Given the description of an element on the screen output the (x, y) to click on. 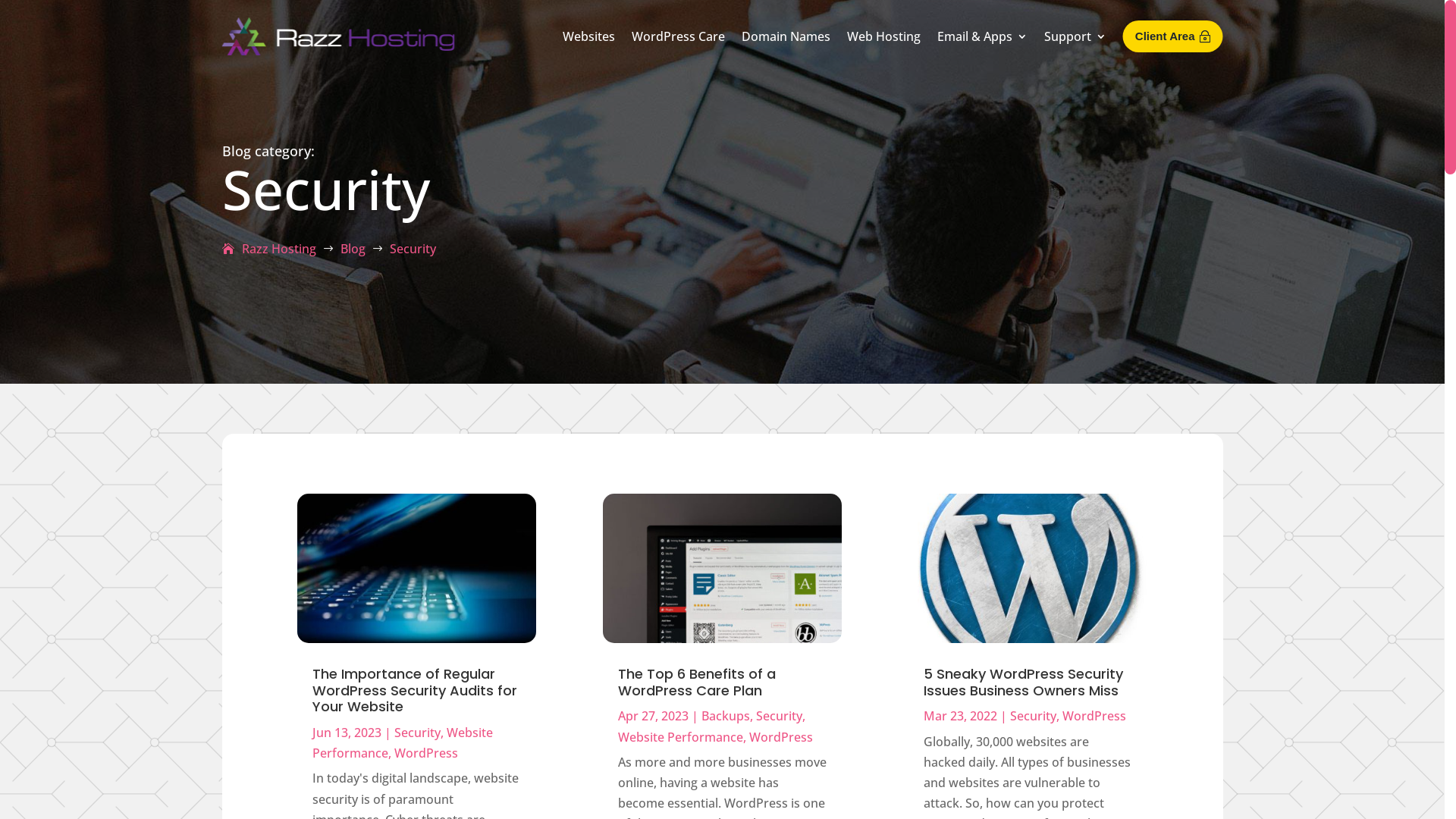
Websites Element type: text (588, 36)
The Top 6 Benefits of a WordPress Care Plan Element type: text (696, 681)
Web Hosting Element type: text (883, 36)
Email & Apps Element type: text (982, 36)
WordPress Element type: text (780, 736)
Domain Names Element type: text (785, 36)
5 Sneaky WordPress Security Issues Business Owners Miss Element type: text (1023, 681)
Blog Element type: text (351, 248)
WordPress Element type: text (1094, 715)
Website Performance Element type: text (680, 736)
Razz Hosting Element type: text (268, 248)
Website Performance Element type: text (402, 742)
Security Element type: text (779, 715)
Support Element type: text (1075, 36)
WordPress Care Element type: text (677, 36)
Client Area Element type: text (1173, 36)
WordPress Element type: text (426, 752)
Backups Element type: text (725, 715)
Security Element type: text (1033, 715)
Security Element type: text (417, 732)
